Given the description of an element on the screen output the (x, y) to click on. 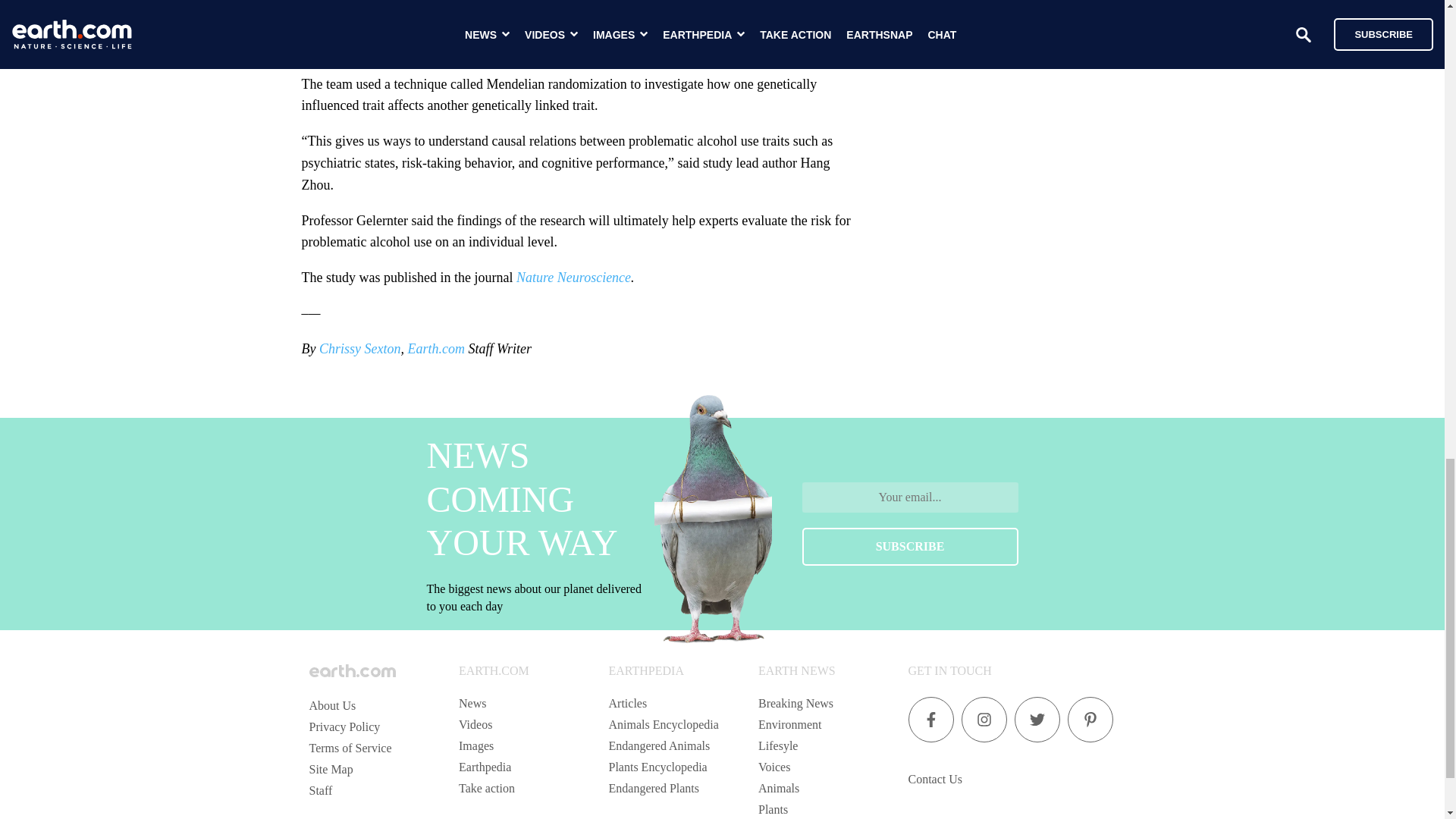
Chrissy Sexton (359, 348)
Earth.com (435, 348)
Nature Neuroscience (573, 277)
SUBSCRIBE (909, 546)
